Given the description of an element on the screen output the (x, y) to click on. 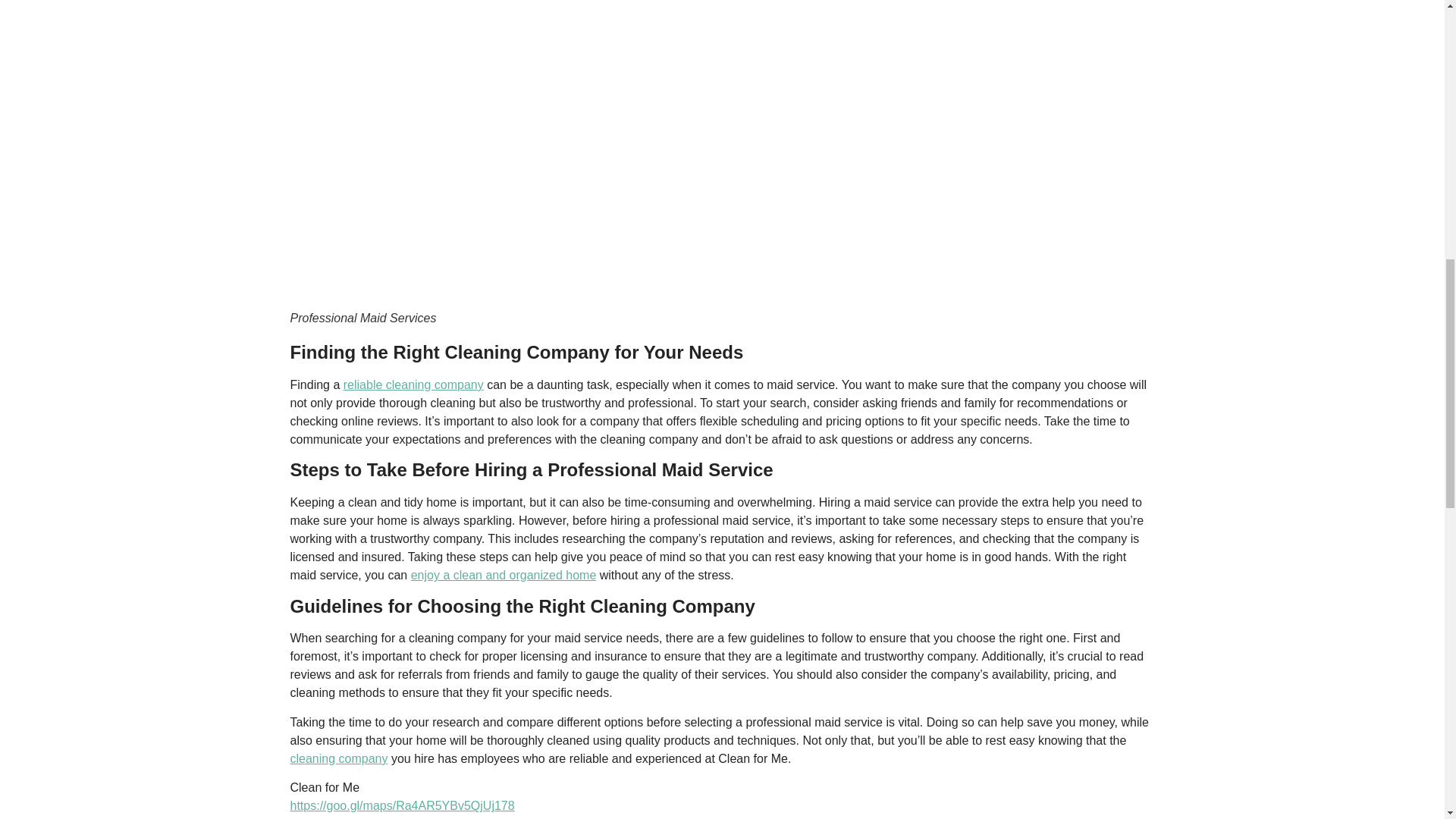
cleaning company (338, 758)
reliable cleaning company (413, 384)
enjoy a clean and organized home (503, 574)
